Given the description of an element on the screen output the (x, y) to click on. 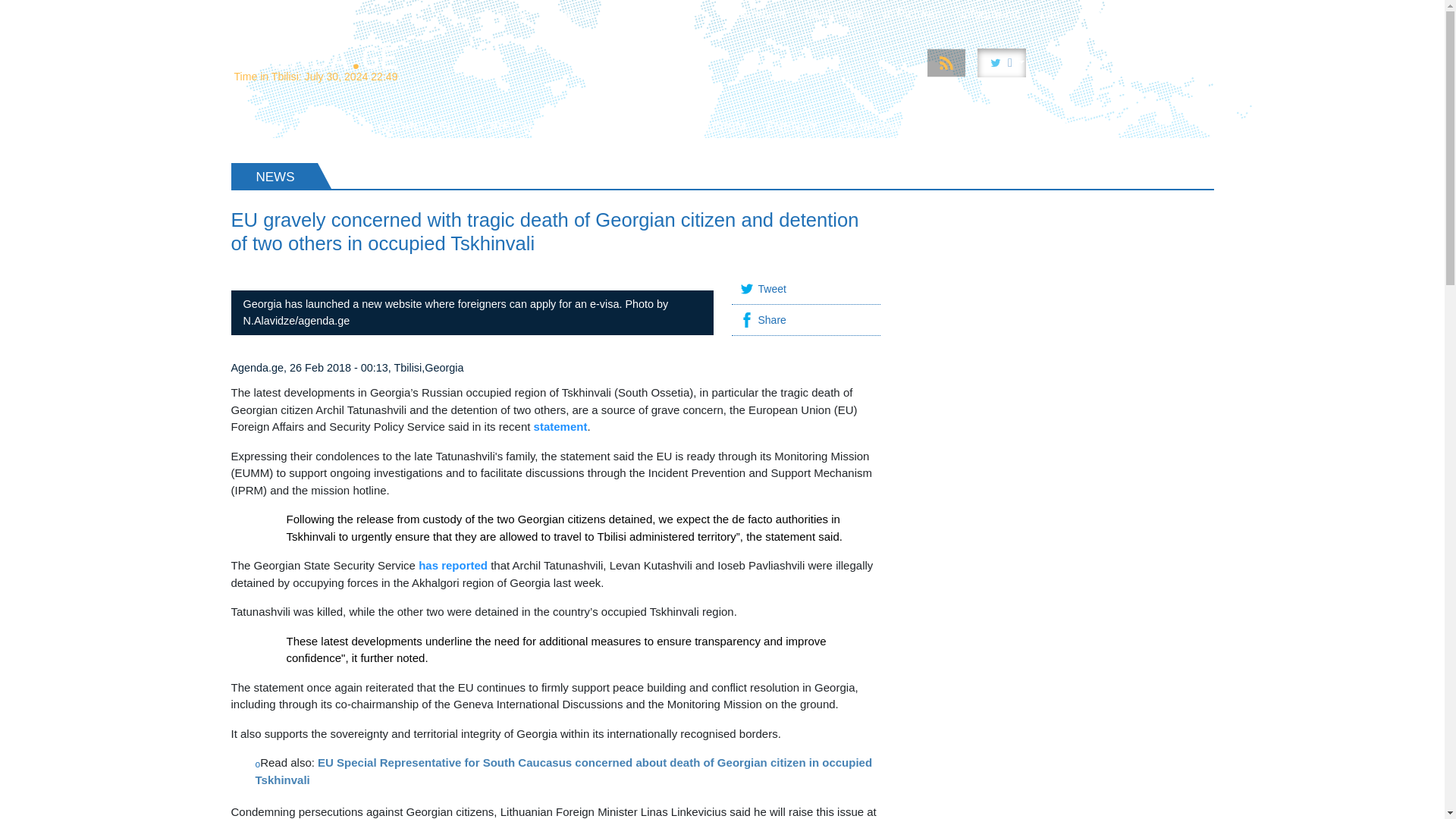
Life (1050, 14)
In Pictures (911, 14)
Analysis (571, 14)
Government (751, 14)
Infographic (990, 14)
Special Reports (656, 14)
Blogs (1187, 14)
Home (512, 14)
NEWS (262, 126)
Multimedia (833, 14)
Pressscanner (1116, 14)
